Given the description of an element on the screen output the (x, y) to click on. 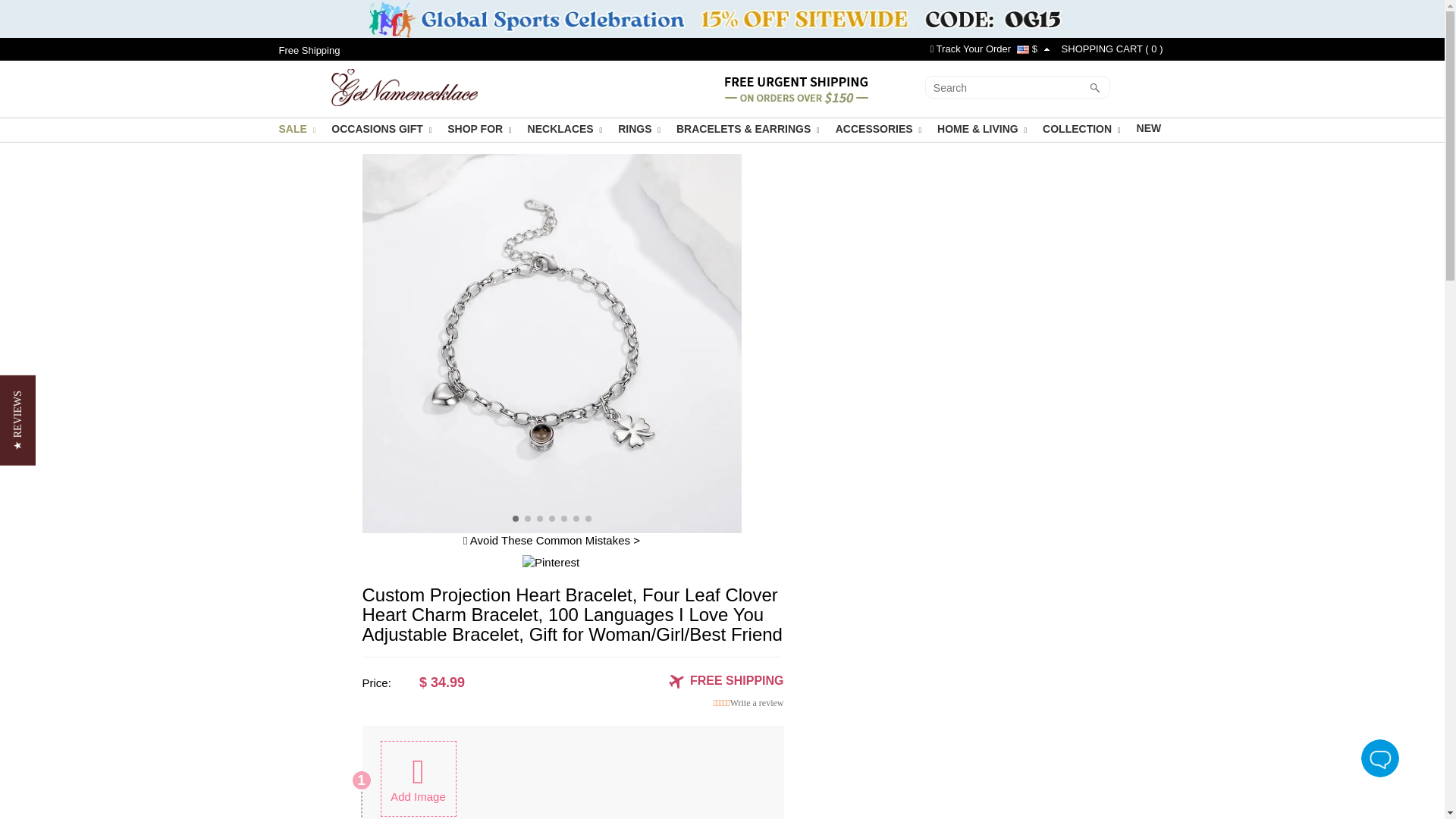
Searh (1005, 87)
name necklace,nameplate necklaces (404, 85)
